Given the description of an element on the screen output the (x, y) to click on. 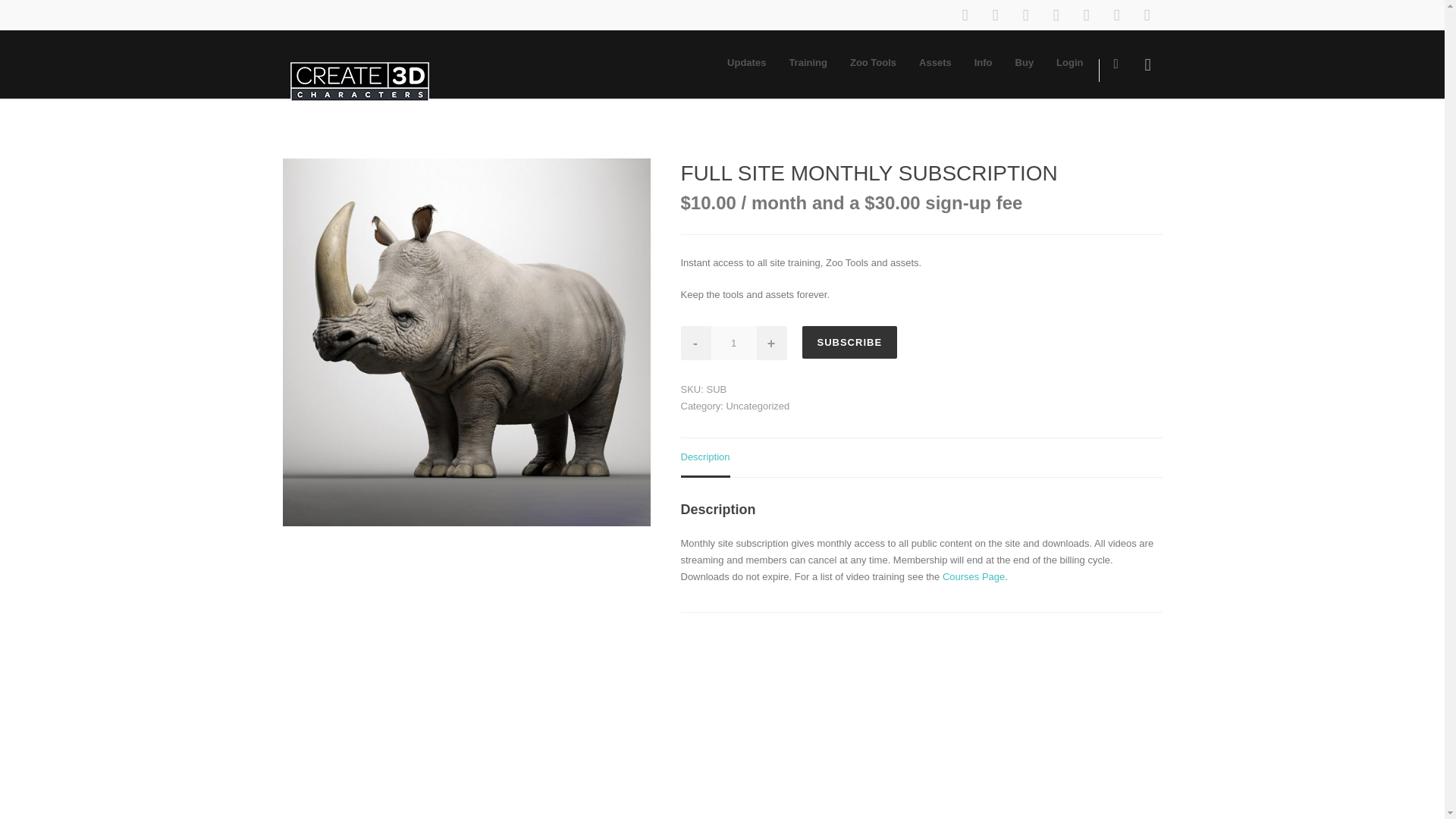
Login (1069, 62)
Instagram (994, 15)
Updates (746, 62)
YouTube (1115, 15)
Assets (934, 62)
Twitter (1055, 15)
Training (807, 62)
Facebook (964, 15)
Zoo Tools (872, 62)
1 (734, 342)
